Given the description of an element on the screen output the (x, y) to click on. 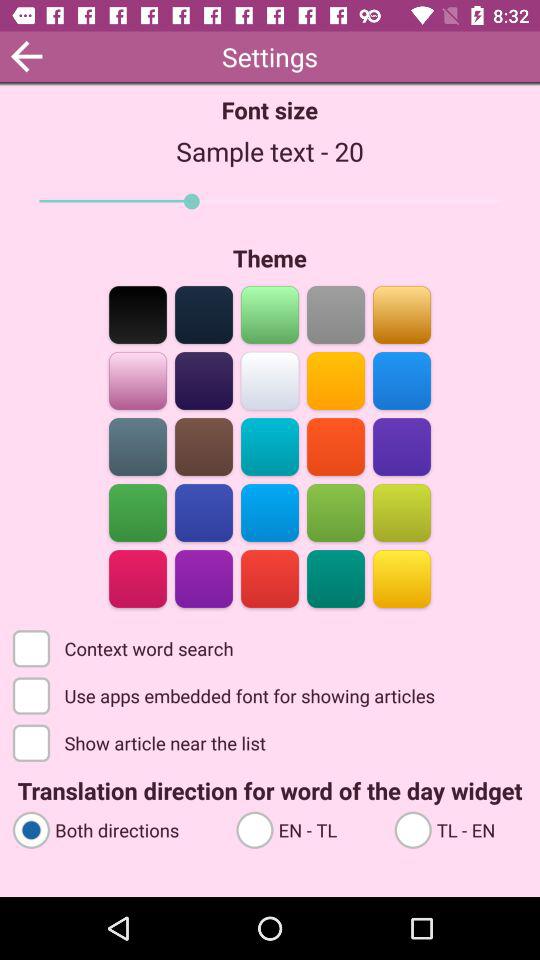
switch brown color (203, 445)
